Given the description of an element on the screen output the (x, y) to click on. 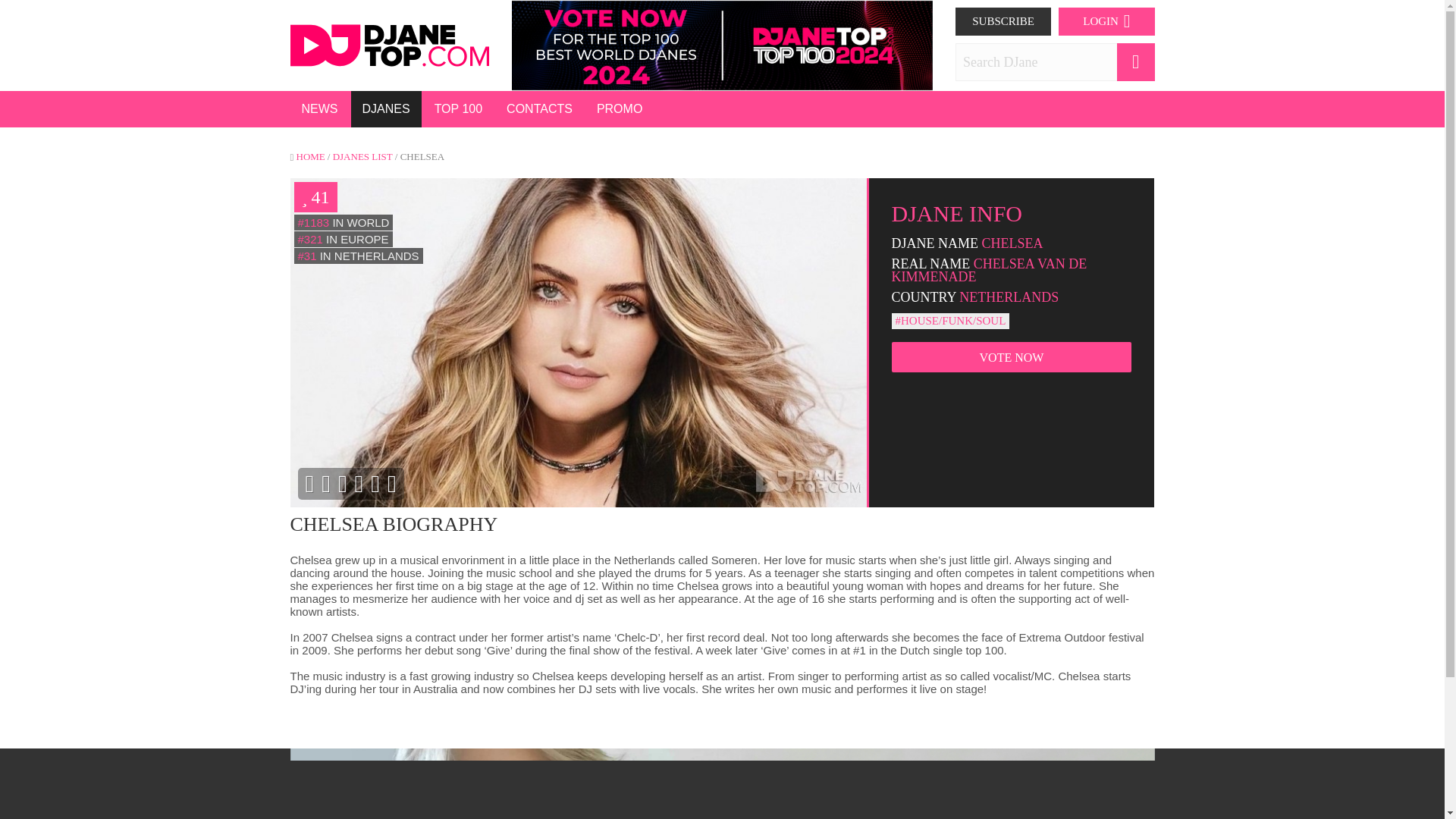
DJANES (385, 108)
Login (1106, 21)
DjaneTop (389, 43)
HOME (309, 156)
LOGIN (1106, 21)
PROMO (619, 108)
Login (1003, 21)
Promo site (722, 45)
Vote NOW CYNDI (301, 45)
SUBSCRIBE (1003, 21)
